Given the description of an element on the screen output the (x, y) to click on. 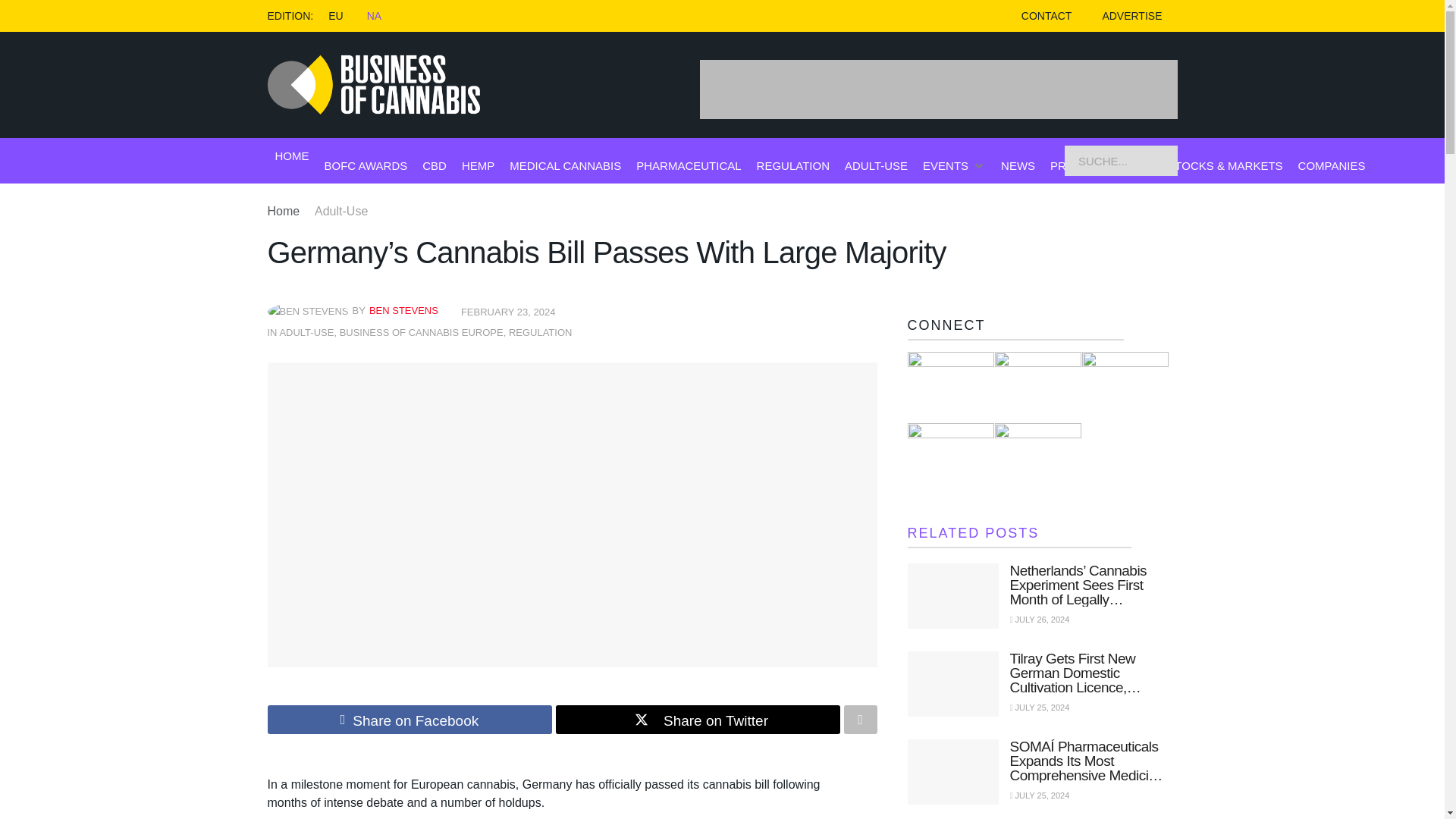
Share on Twitter (697, 719)
Share on Facebook (408, 719)
HOME (291, 156)
PHARMACEUTICAL (688, 165)
PRESS RELEASES (1100, 165)
CONTACT (1046, 15)
REGULATION (540, 332)
ADULT-USE (306, 332)
Adult-Use (341, 210)
BOFC AWARDS (365, 165)
HEMP (478, 165)
MEDICAL CANNABIS (565, 165)
FEBRUARY 23, 2024 (508, 311)
ADVERTISE (1131, 15)
CBD (434, 165)
